Given the description of an element on the screen output the (x, y) to click on. 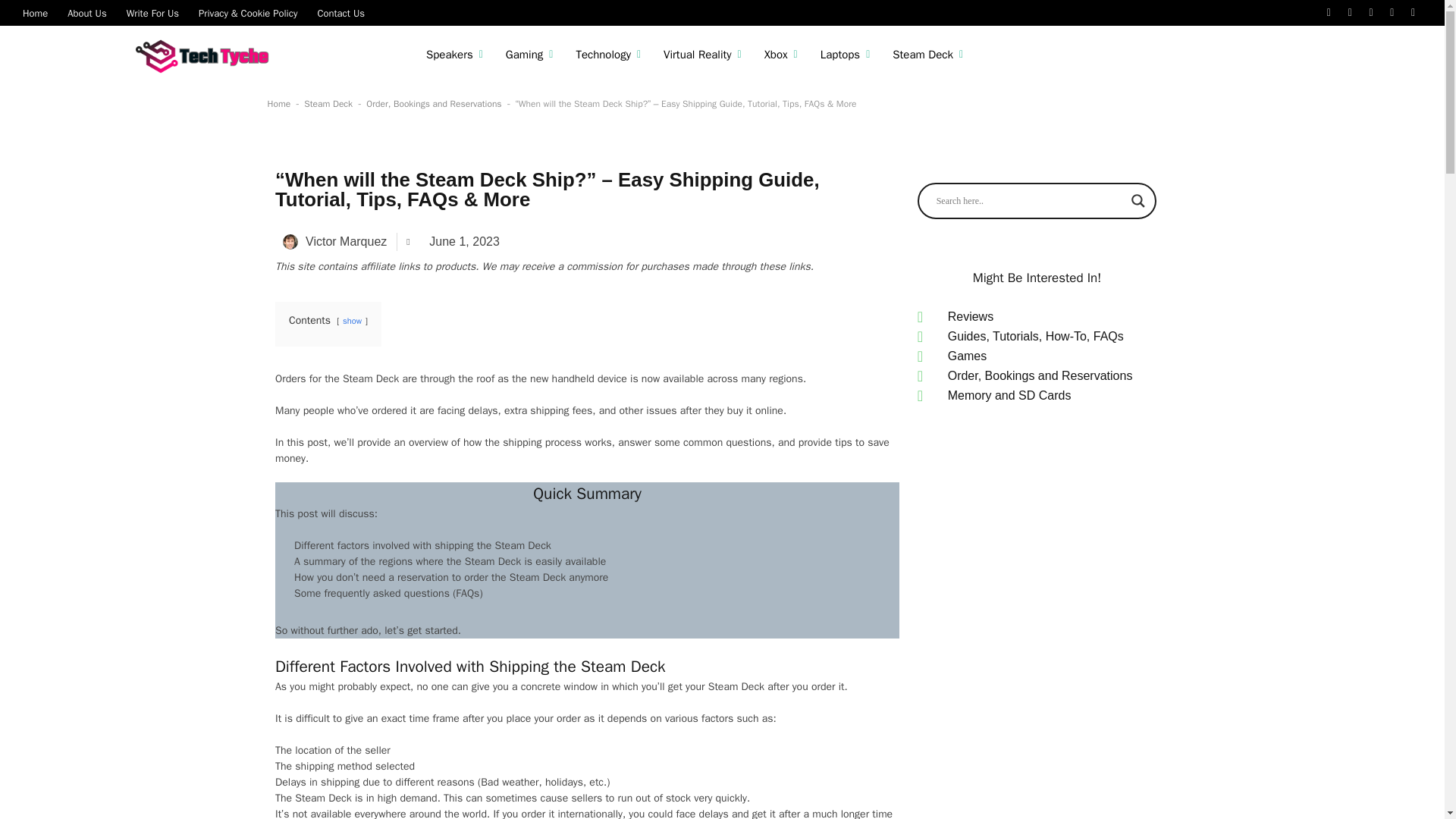
Home (35, 12)
Techtyche (205, 54)
Gaming (529, 54)
About Us (87, 12)
Speakers (454, 54)
Contact Us (340, 12)
Write For Us (152, 12)
